Given the description of an element on the screen output the (x, y) to click on. 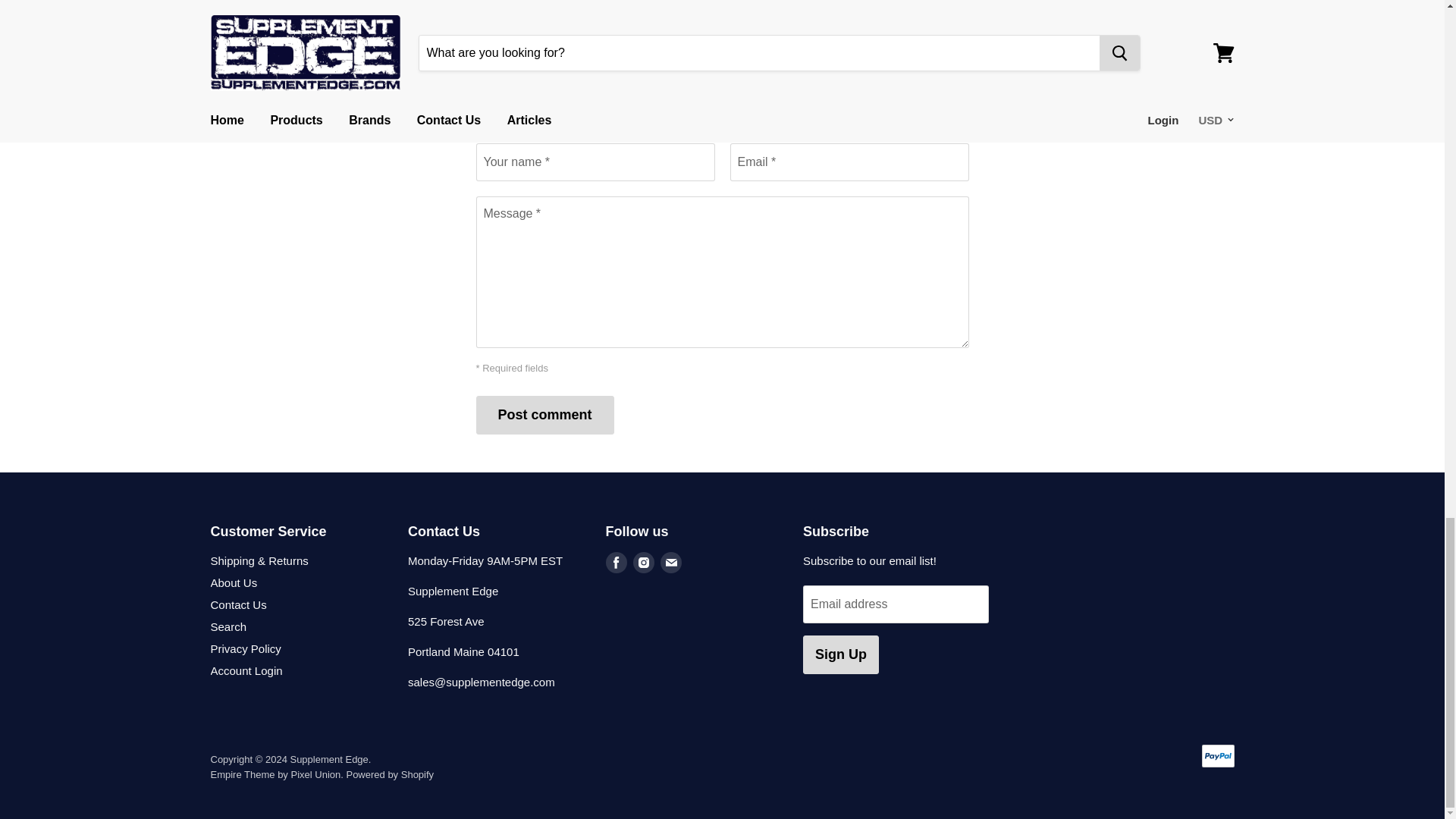
E-mail (670, 561)
Instagram (642, 561)
About Us (234, 581)
Post comment (545, 414)
Facebook (615, 561)
Contact Us (238, 604)
